Given the description of an element on the screen output the (x, y) to click on. 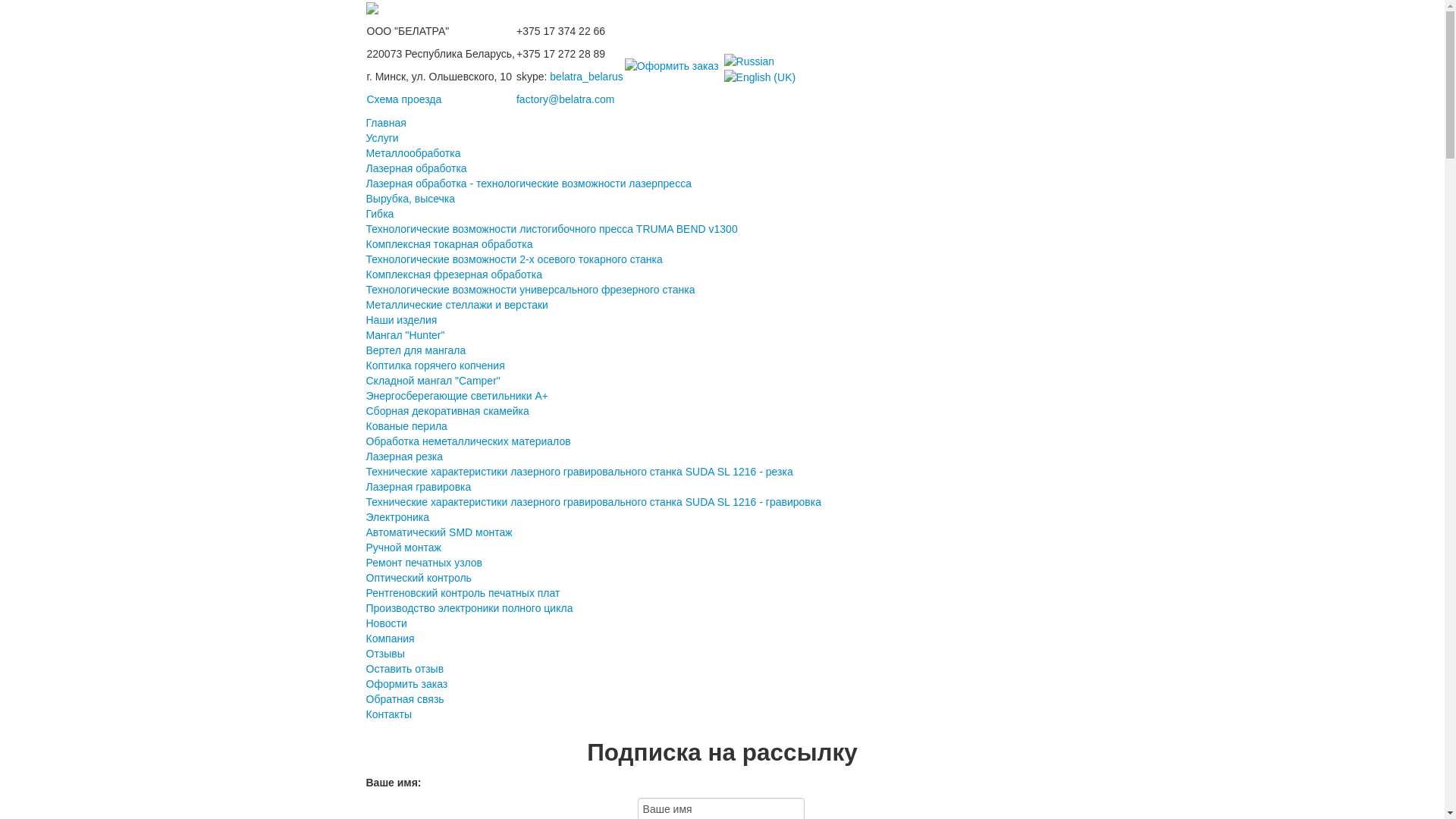
belatra_belarus Element type: text (586, 76)
English (UK) Element type: hover (760, 76)
factory@belatra.com Element type: text (565, 99)
Russian Element type: hover (749, 61)
